Given the description of an element on the screen output the (x, y) to click on. 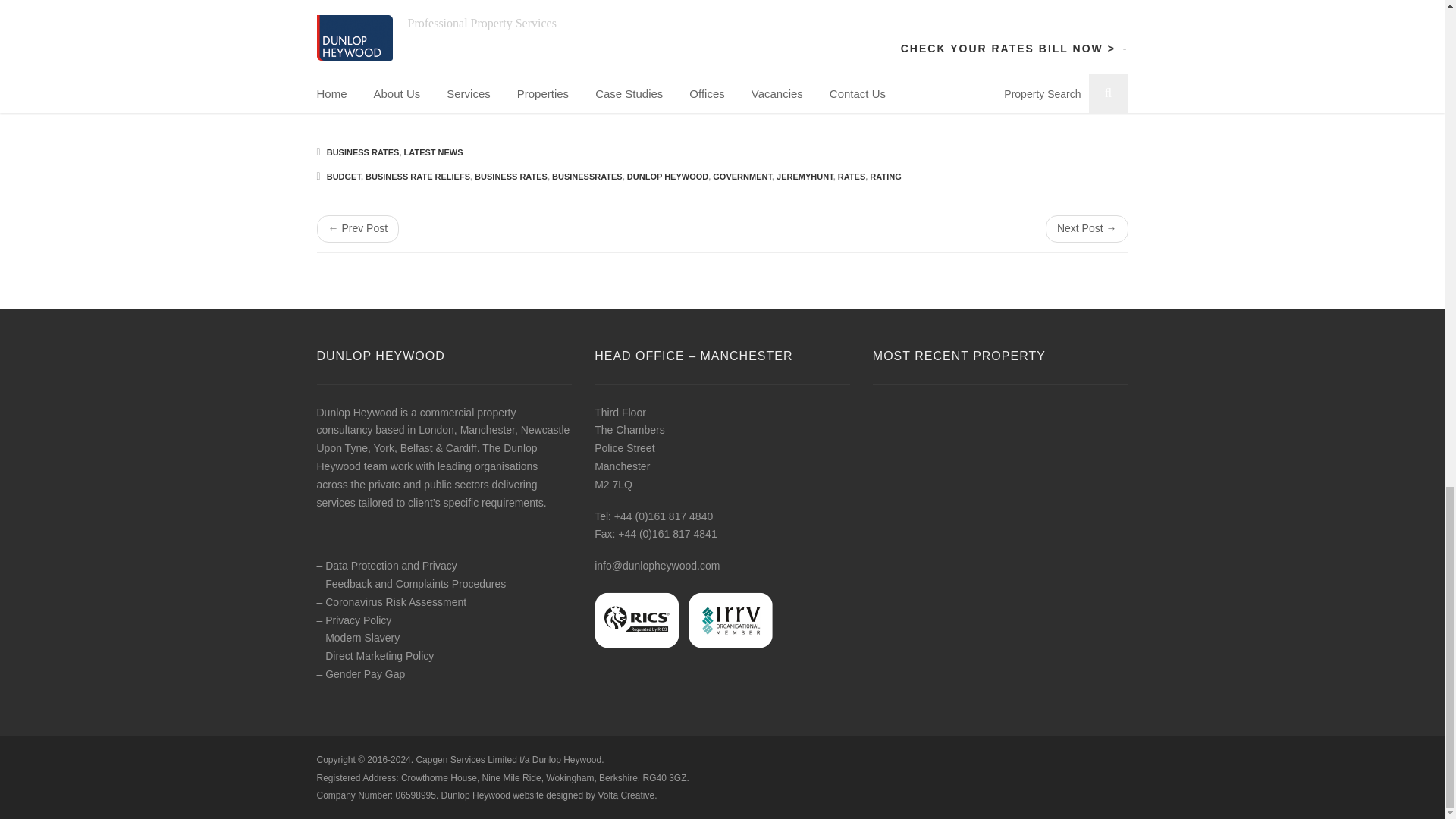
LATEST NEWS (433, 152)
BUDGET (343, 175)
BUSINESS RATES (362, 152)
Basic Property Rate, (924, 39)
